Given the description of an element on the screen output the (x, y) to click on. 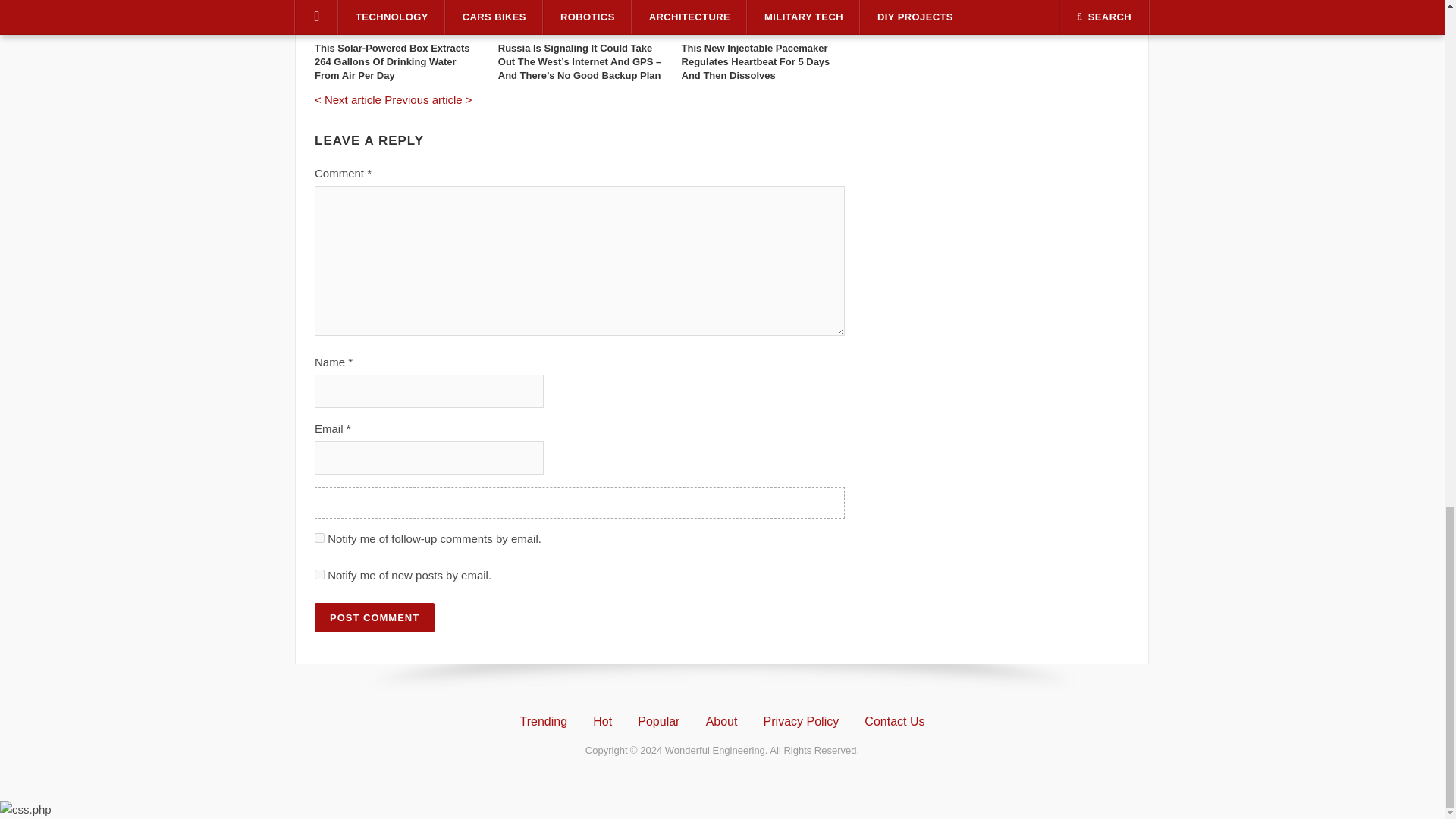
subscribe (319, 537)
subscribe (319, 574)
Post Comment (373, 617)
